Given the description of an element on the screen output the (x, y) to click on. 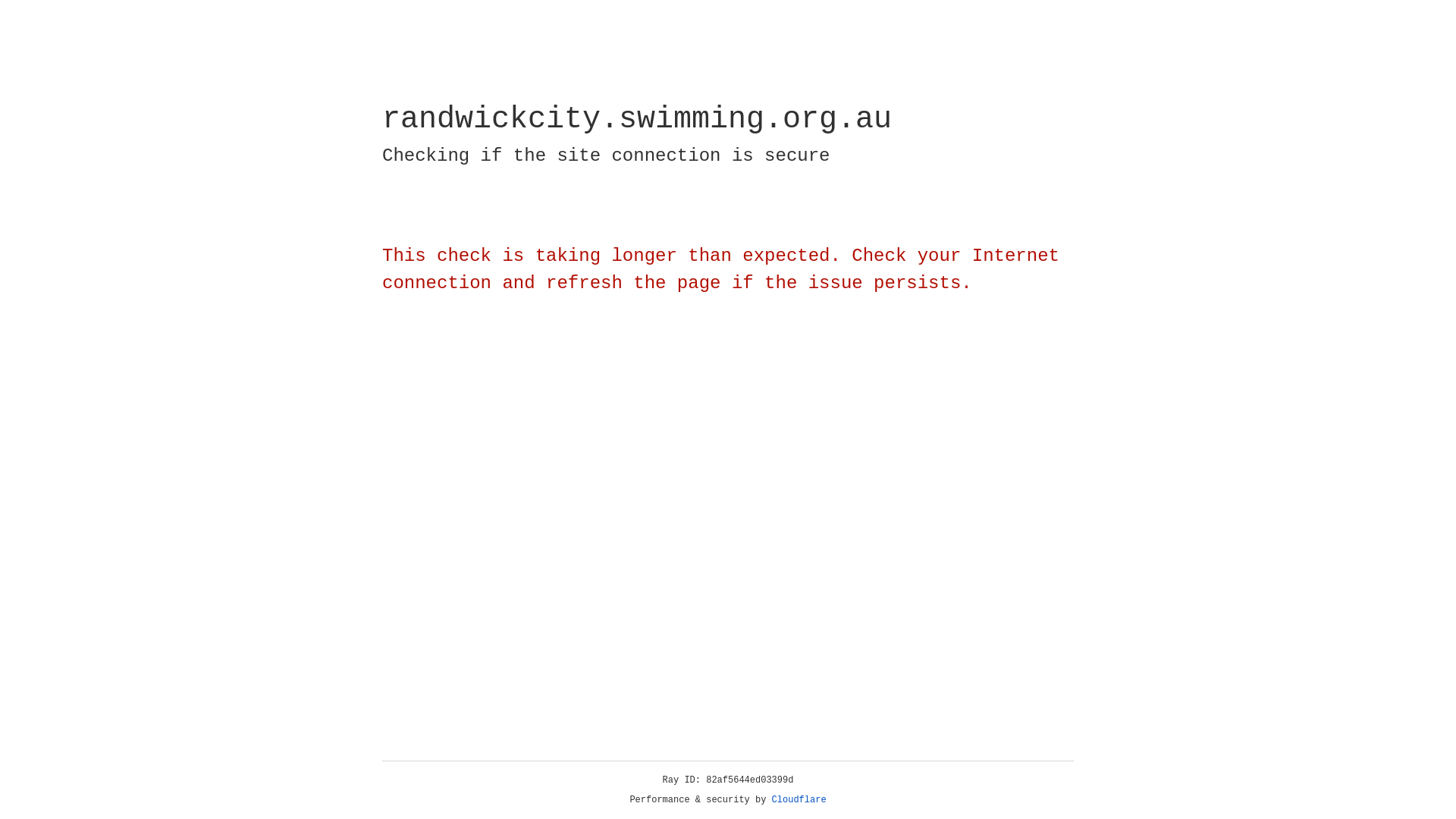
Cloudflare Element type: text (798, 799)
